Given the description of an element on the screen output the (x, y) to click on. 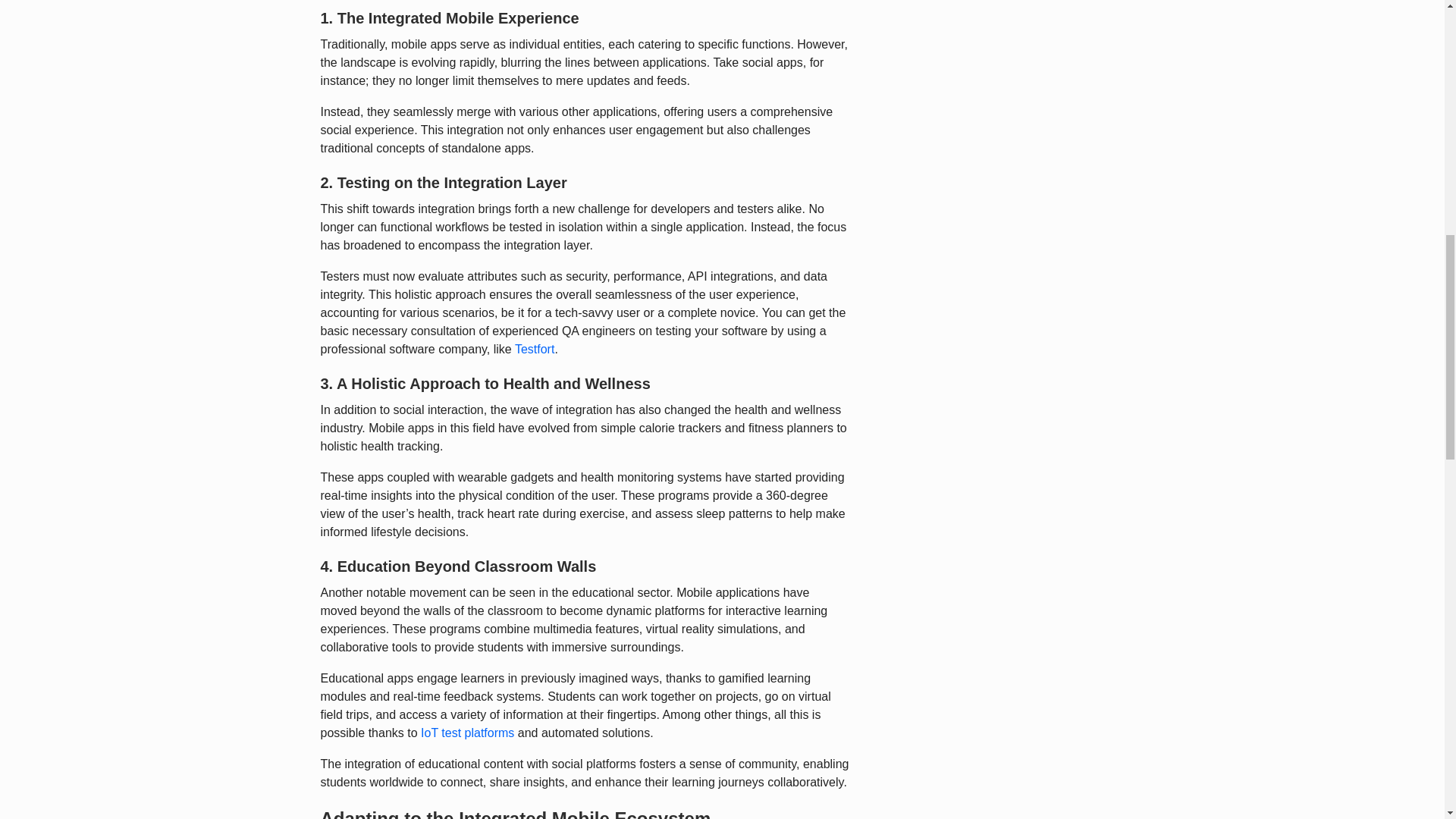
IoT test platforms (466, 732)
Testfort (534, 349)
